Given the description of an element on the screen output the (x, y) to click on. 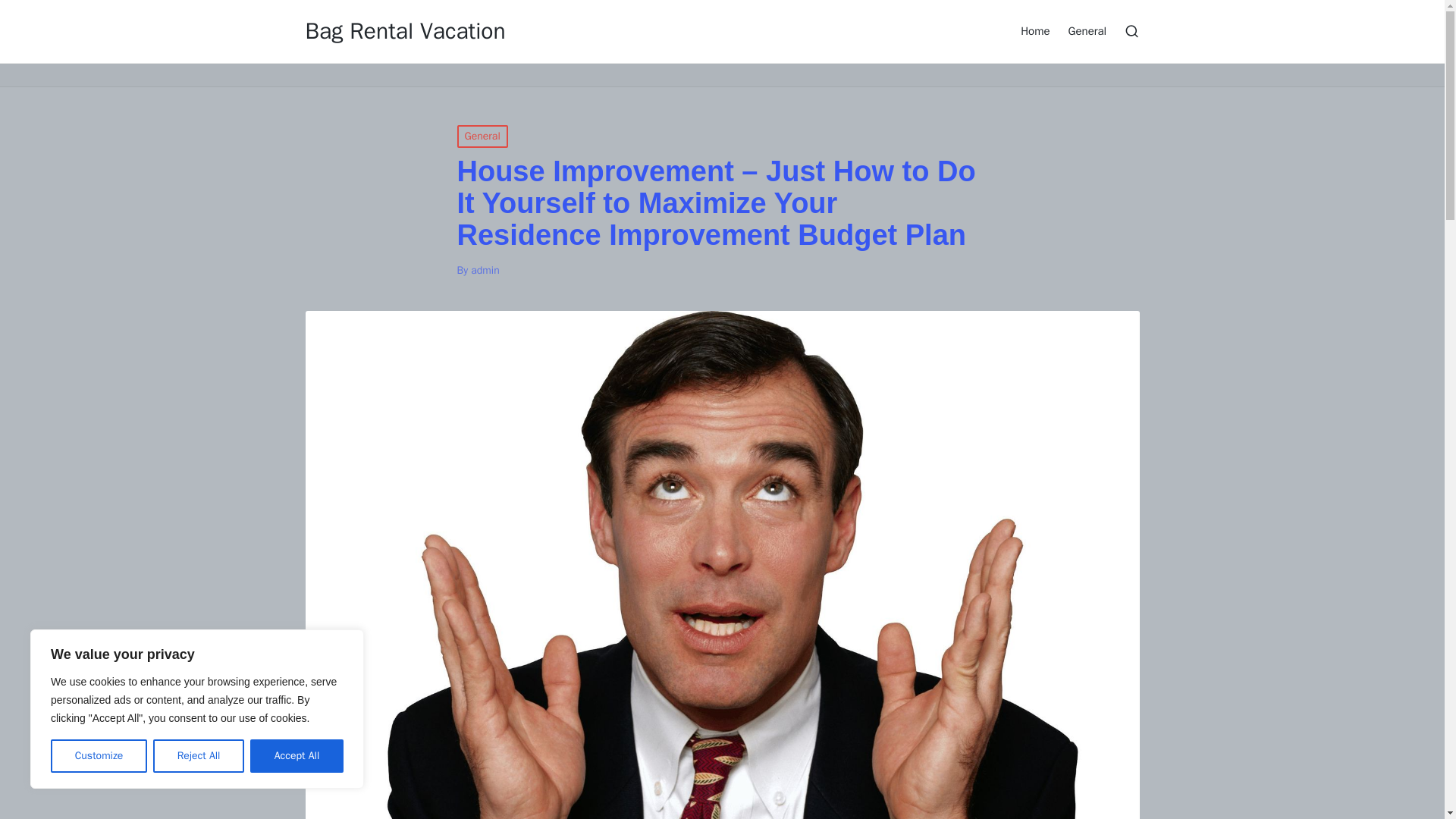
General (1087, 30)
View all posts by  (484, 269)
admin (484, 269)
Bag Rental Vacation (404, 31)
Reject All (198, 756)
Customize (98, 756)
Home (1034, 30)
Accept All (296, 756)
General (481, 136)
